Given the description of an element on the screen output the (x, y) to click on. 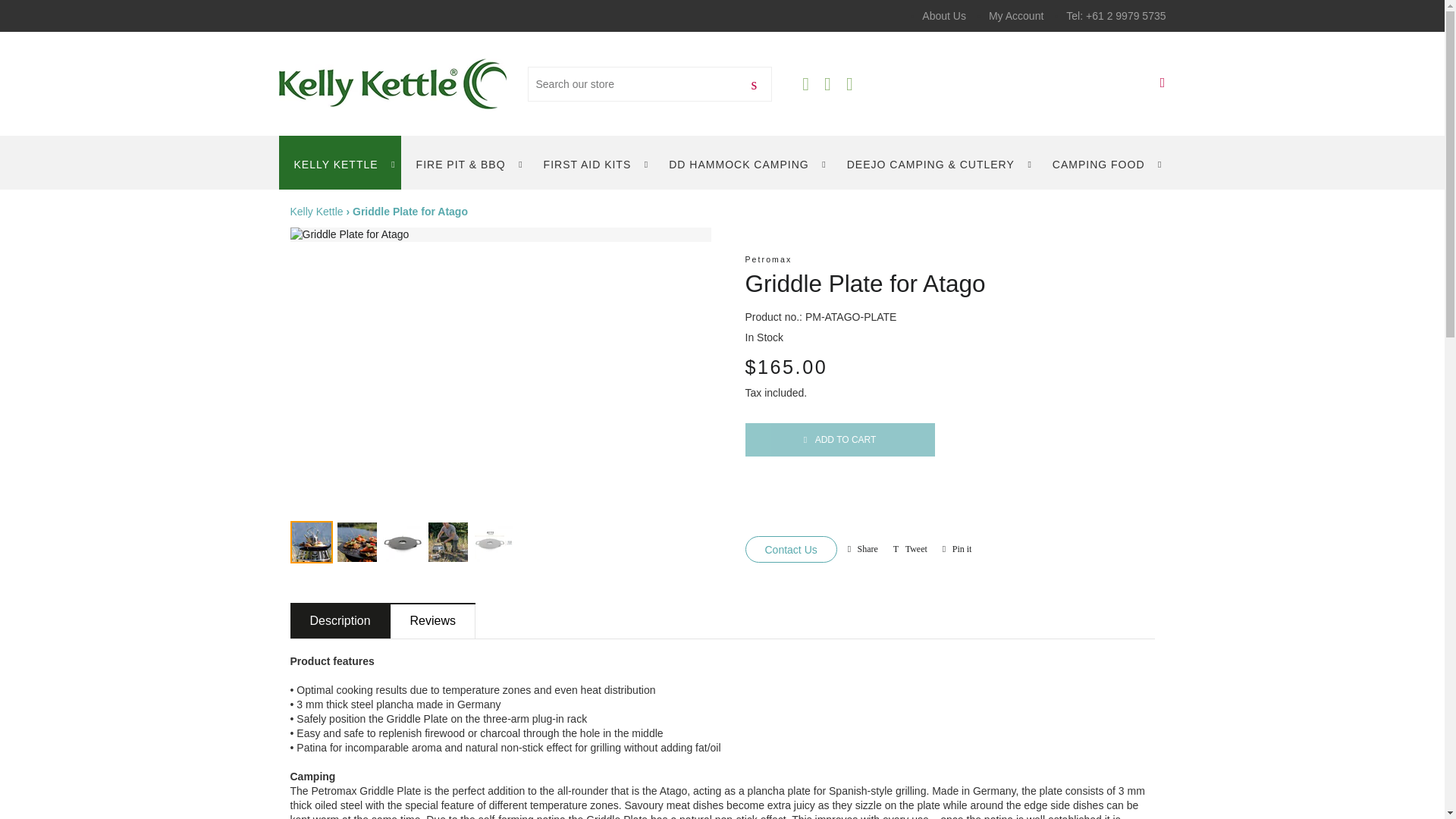
My Account (1015, 15)
Home (315, 211)
Tweet on Twitter (909, 548)
FIRST AID KITS (590, 162)
Pin on Pinterest (956, 548)
About Us (943, 15)
Share on Facebook (862, 548)
Search (753, 83)
KELLY KETTLE (340, 162)
